Given the description of an element on the screen output the (x, y) to click on. 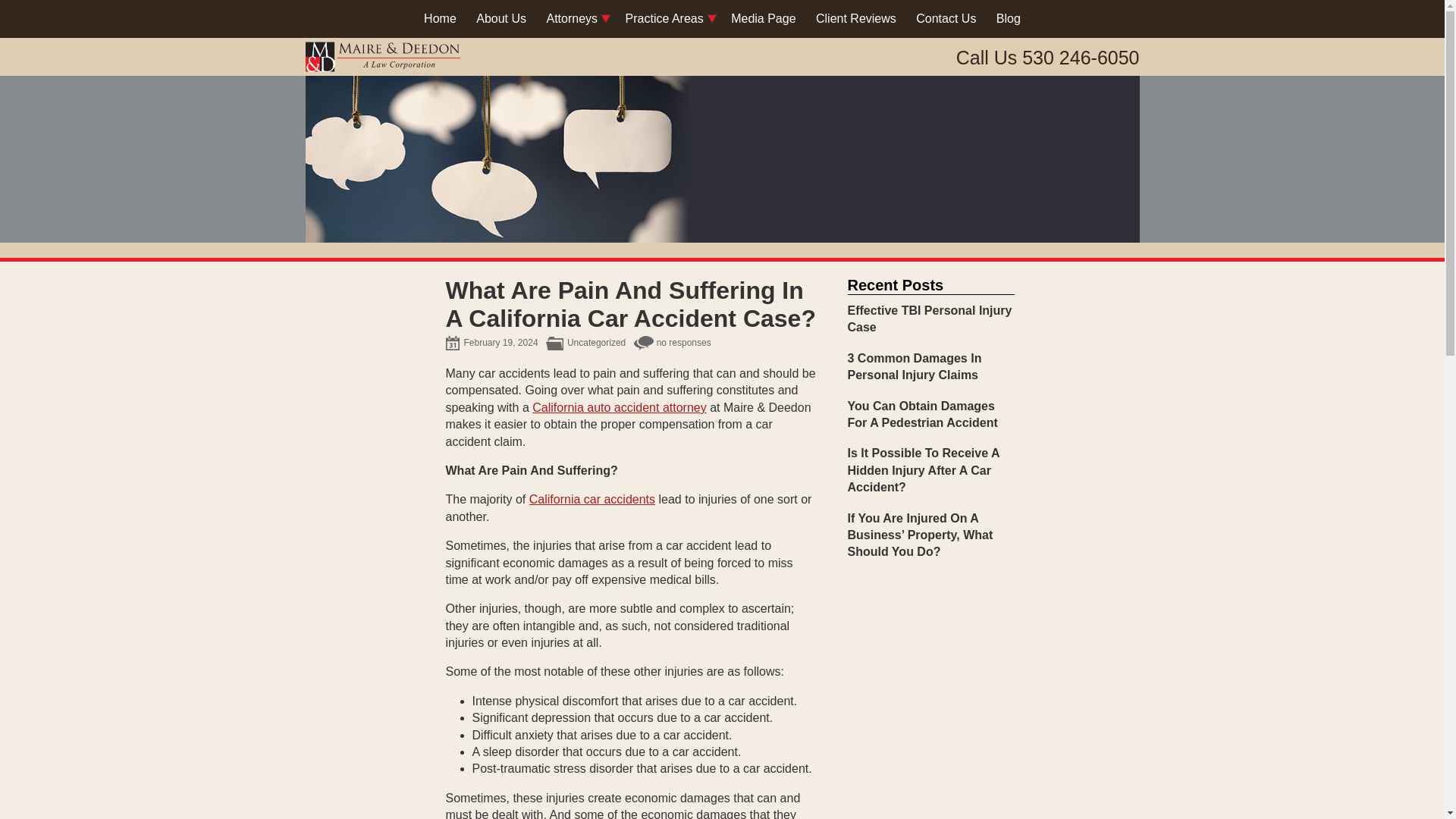
You Can Obtain Damages For A Pedestrian Accident (930, 415)
Effective TBI Personal Injury Case (930, 319)
no responses (683, 342)
Contact Us (945, 18)
Media Page (762, 18)
Home (439, 18)
Attorneys (572, 18)
California auto accident attorney (619, 407)
Practice Areas (664, 18)
About Us (500, 18)
California car accidents (592, 499)
Uncategorized (596, 342)
Client Reviews (856, 18)
Blog (1008, 18)
